Given the description of an element on the screen output the (x, y) to click on. 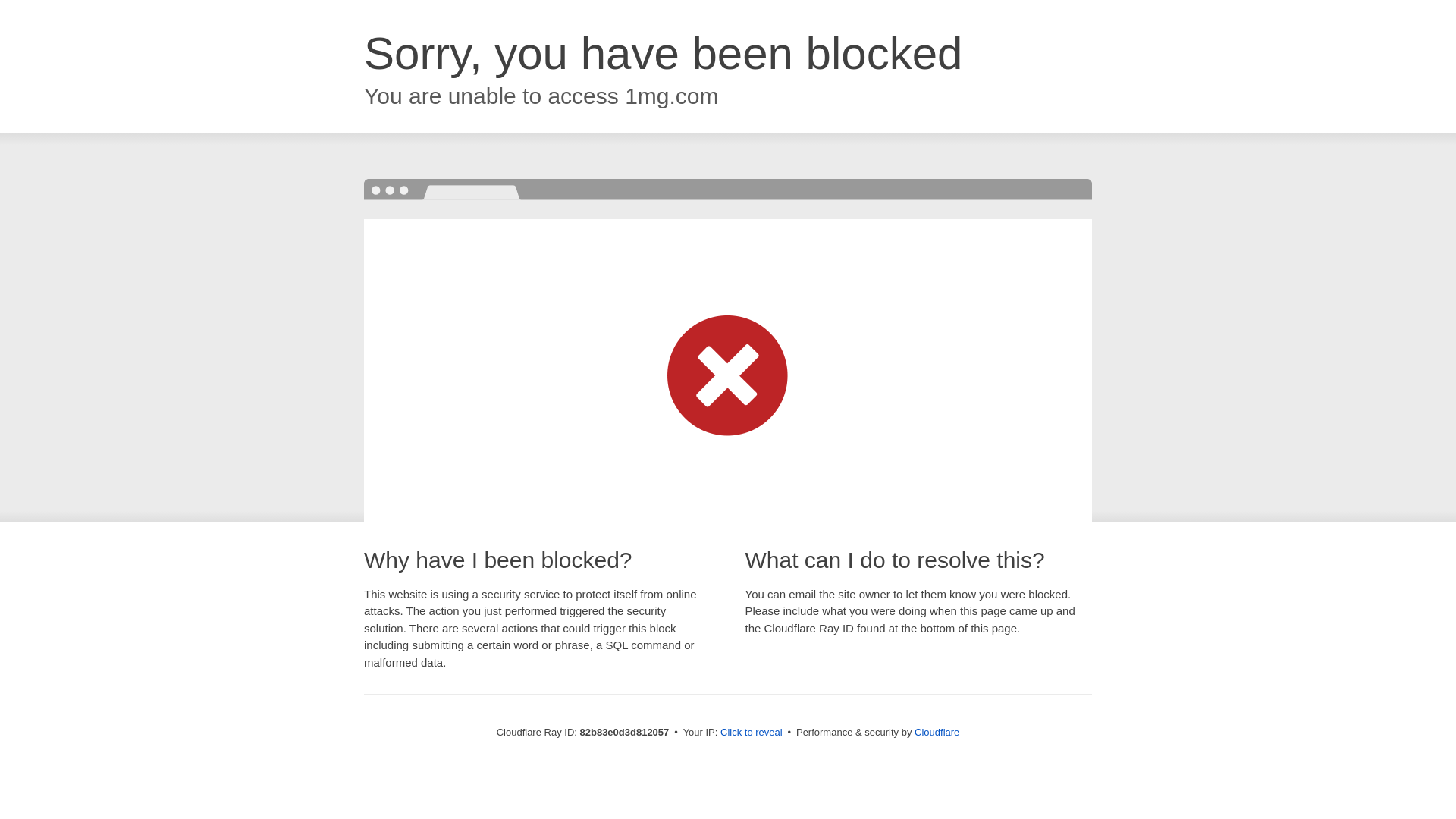
Click to reveal Element type: text (751, 732)
Cloudflare Element type: text (936, 731)
